Given the description of an element on the screen output the (x, y) to click on. 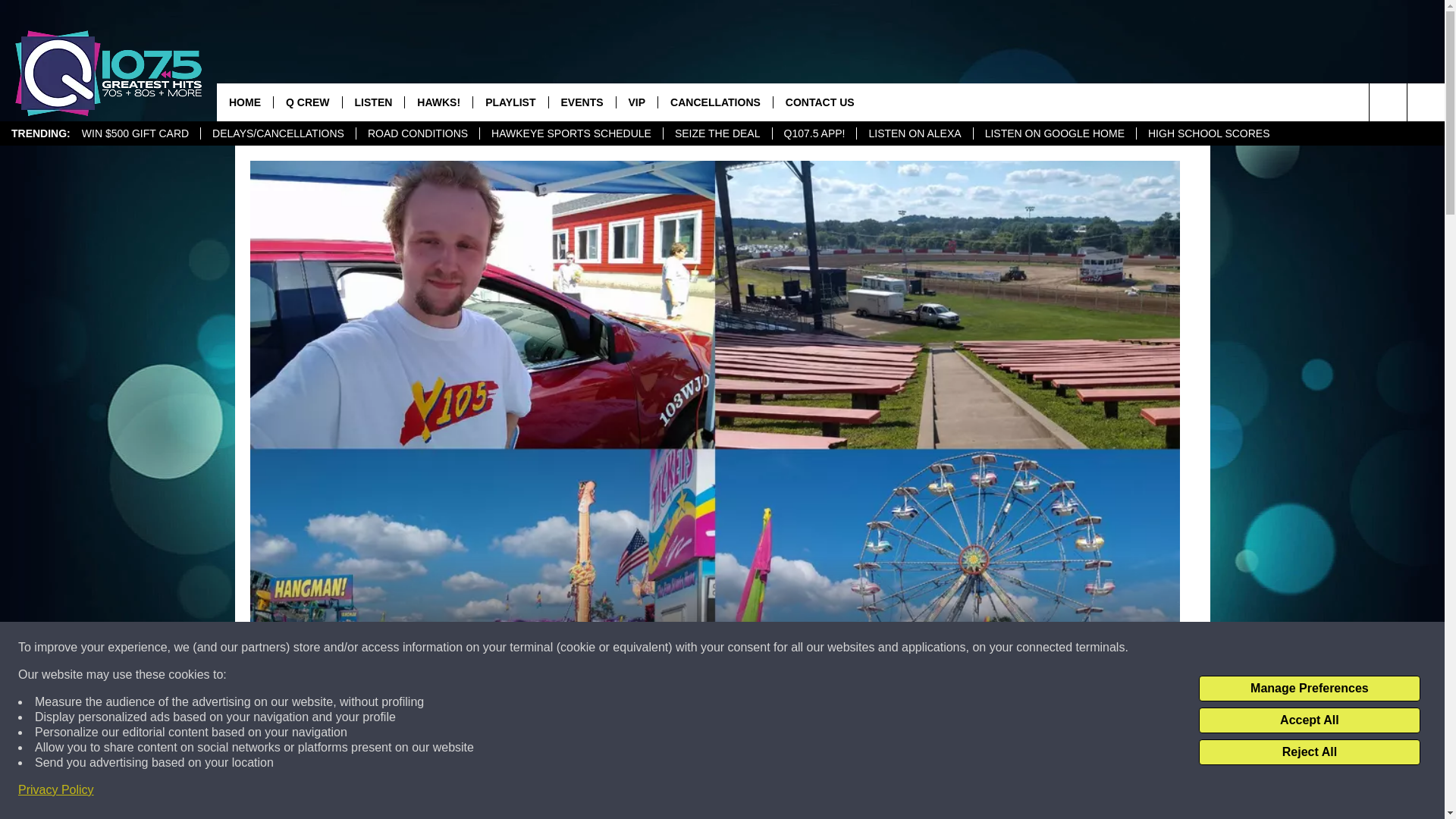
EVENTS (581, 102)
HAWKS! (437, 102)
HAWKEYE SPORTS SCHEDULE (570, 133)
Manage Preferences (1309, 688)
Accept All (1309, 720)
LISTEN ON GOOGLE HOME (1053, 133)
HOME (244, 102)
Share on Twitter (912, 791)
PLAYLIST (509, 102)
CANCELLATIONS (715, 102)
LISTEN (373, 102)
Q107.5 APP! (814, 133)
VIP (636, 102)
SEIZE THE DEAL (716, 133)
LISTEN ON ALEXA (914, 133)
